Given the description of an element on the screen output the (x, y) to click on. 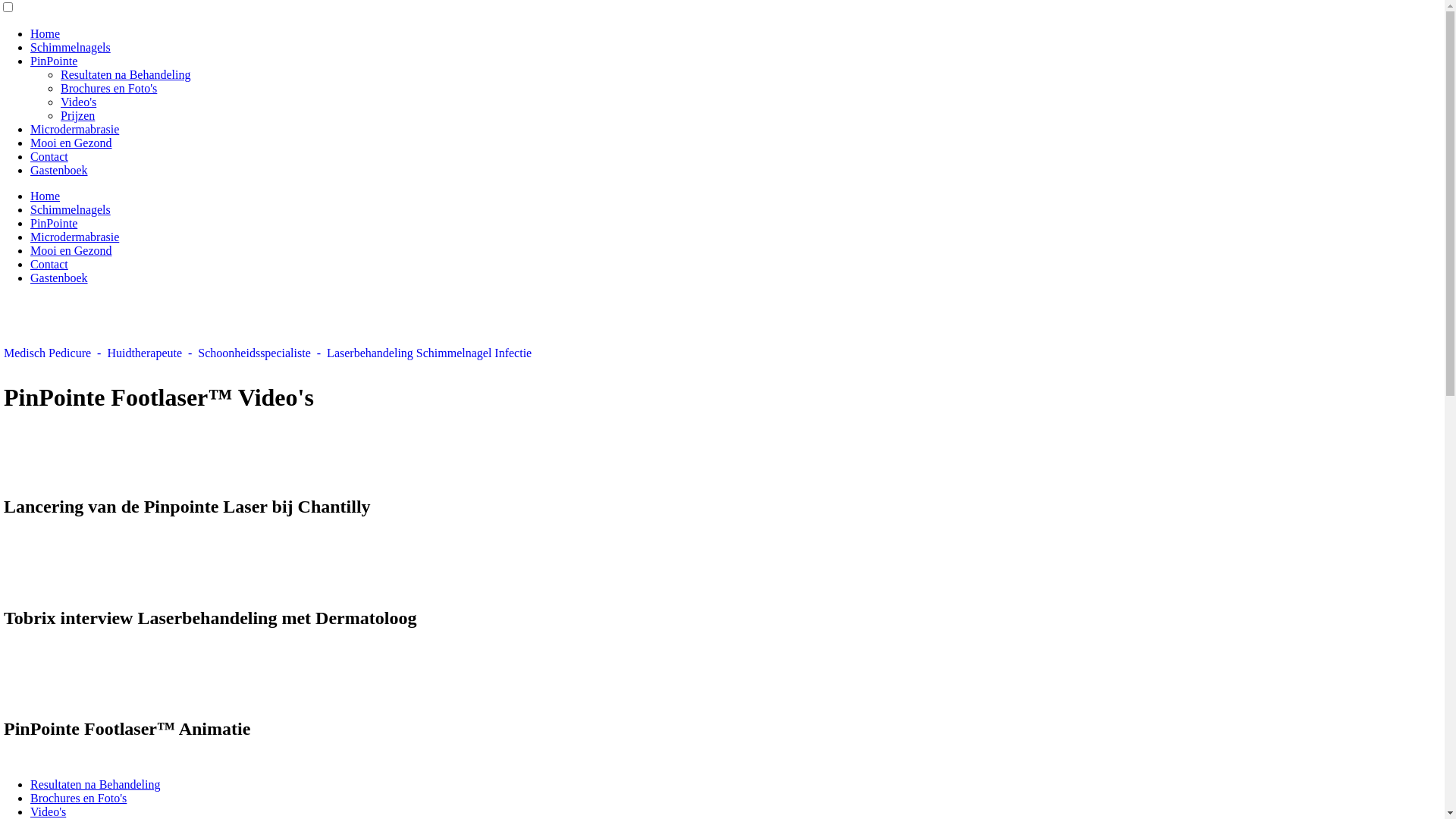
Gastenboek Element type: text (58, 169)
Brochures en Foto's Element type: text (78, 797)
Gastenboek Element type: text (58, 277)
Brochures en Foto's Element type: text (108, 87)
Home Element type: text (44, 33)
Contact Element type: text (49, 263)
Mooi en Gezond Element type: text (71, 142)
Mooi en Gezond Element type: text (71, 250)
Microdermabrasie Element type: text (74, 128)
Contact Element type: text (49, 156)
Video's Element type: text (47, 811)
Prijzen Element type: text (77, 115)
Video's Element type: text (78, 101)
Resultaten na Behandeling Element type: text (95, 784)
Schimmelnagels Element type: text (70, 46)
PinPointe Element type: text (53, 222)
Schimmelnagels Element type: text (70, 209)
Resultaten na Behandeling Element type: text (125, 74)
Microdermabrasie Element type: text (74, 236)
PinPointe Element type: text (53, 60)
Home Element type: text (44, 195)
